Given the description of an element on the screen output the (x, y) to click on. 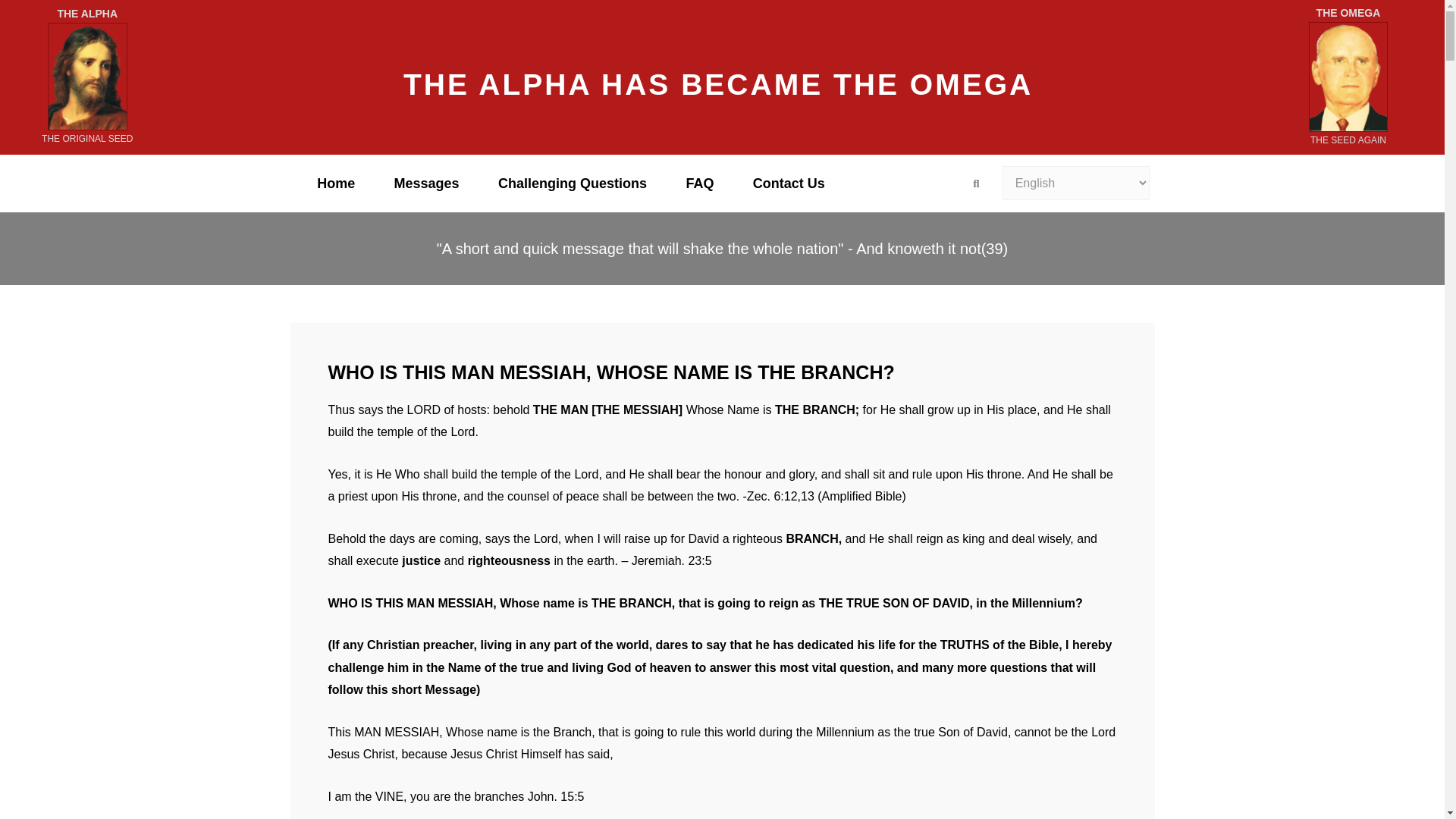
Challenging Questions (572, 183)
Contact Us (788, 183)
FAQ (699, 183)
Search (971, 182)
Home (335, 183)
Messages (426, 183)
